Given the description of an element on the screen output the (x, y) to click on. 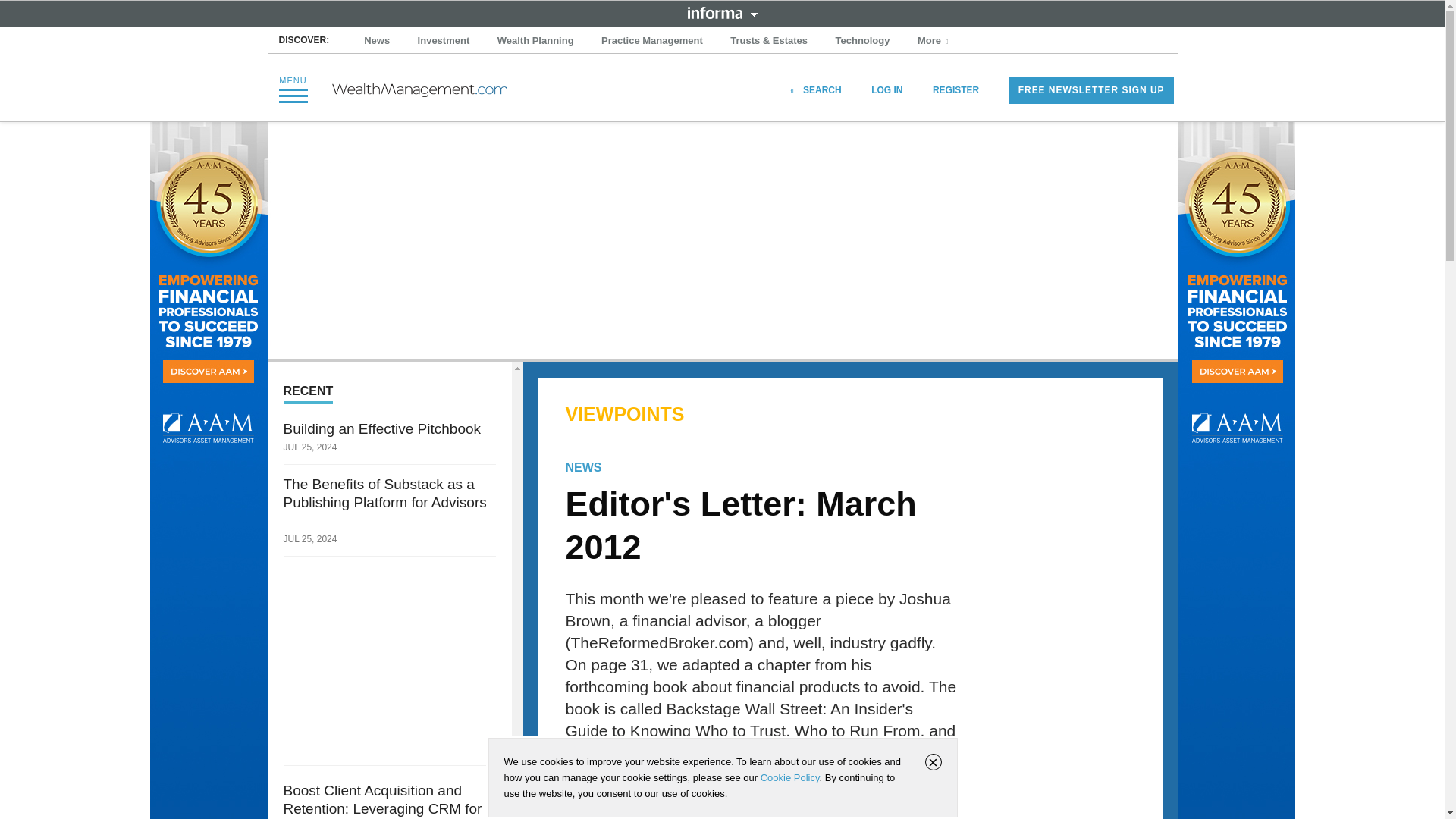
INFORMA (722, 12)
News (377, 41)
Technology (862, 41)
More (934, 41)
Practice Management (652, 41)
Wealth Planning (535, 41)
Cookie Policy (789, 777)
Investment (444, 41)
